Given the description of an element on the screen output the (x, y) to click on. 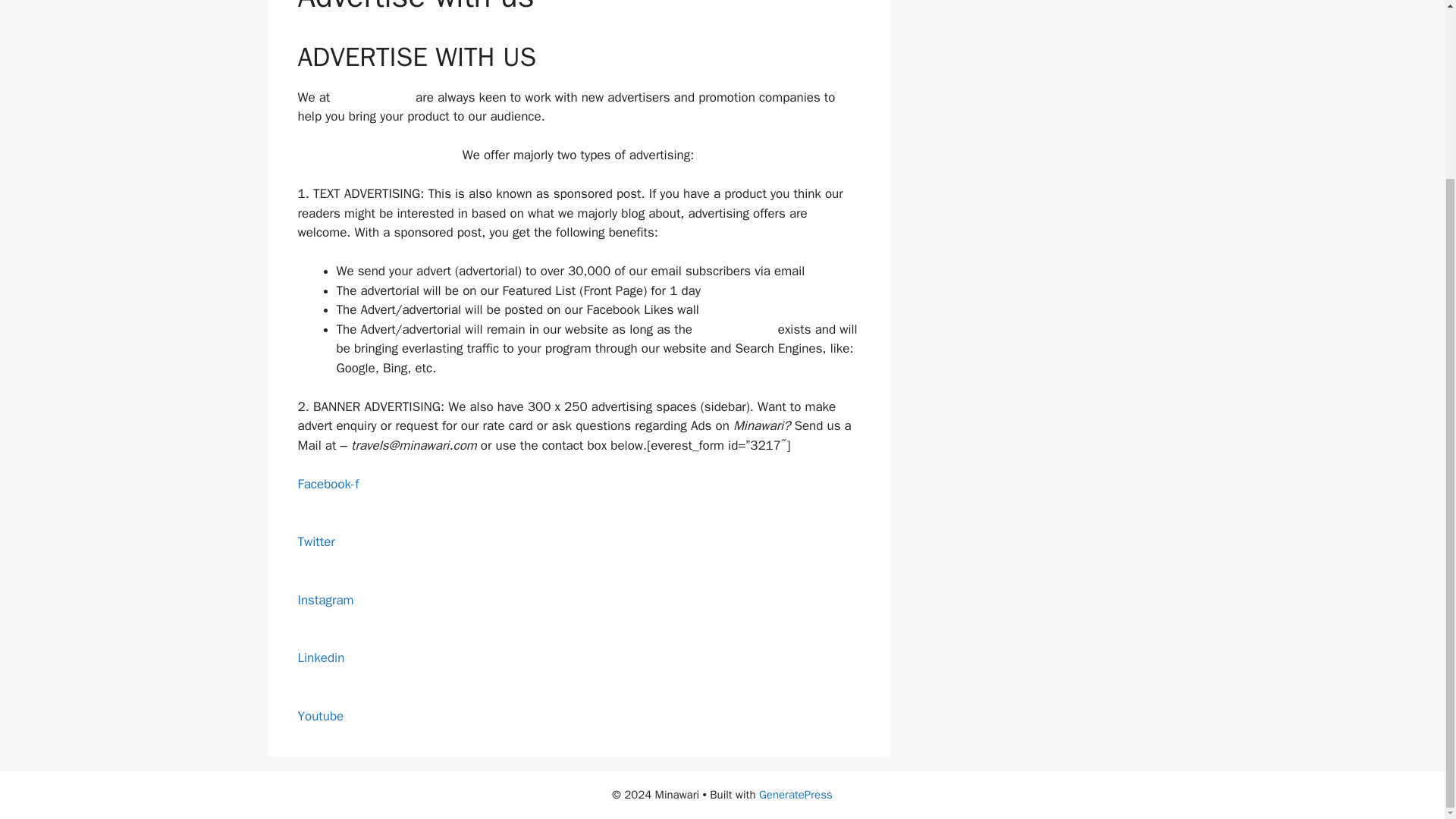
Facebook-f (327, 493)
Minawari.com (734, 329)
GeneratePress (795, 794)
Minawari.com (372, 97)
Instagram (325, 610)
Linkedin (320, 667)
Youtube (320, 725)
Twitter (315, 551)
